Given the description of an element on the screen output the (x, y) to click on. 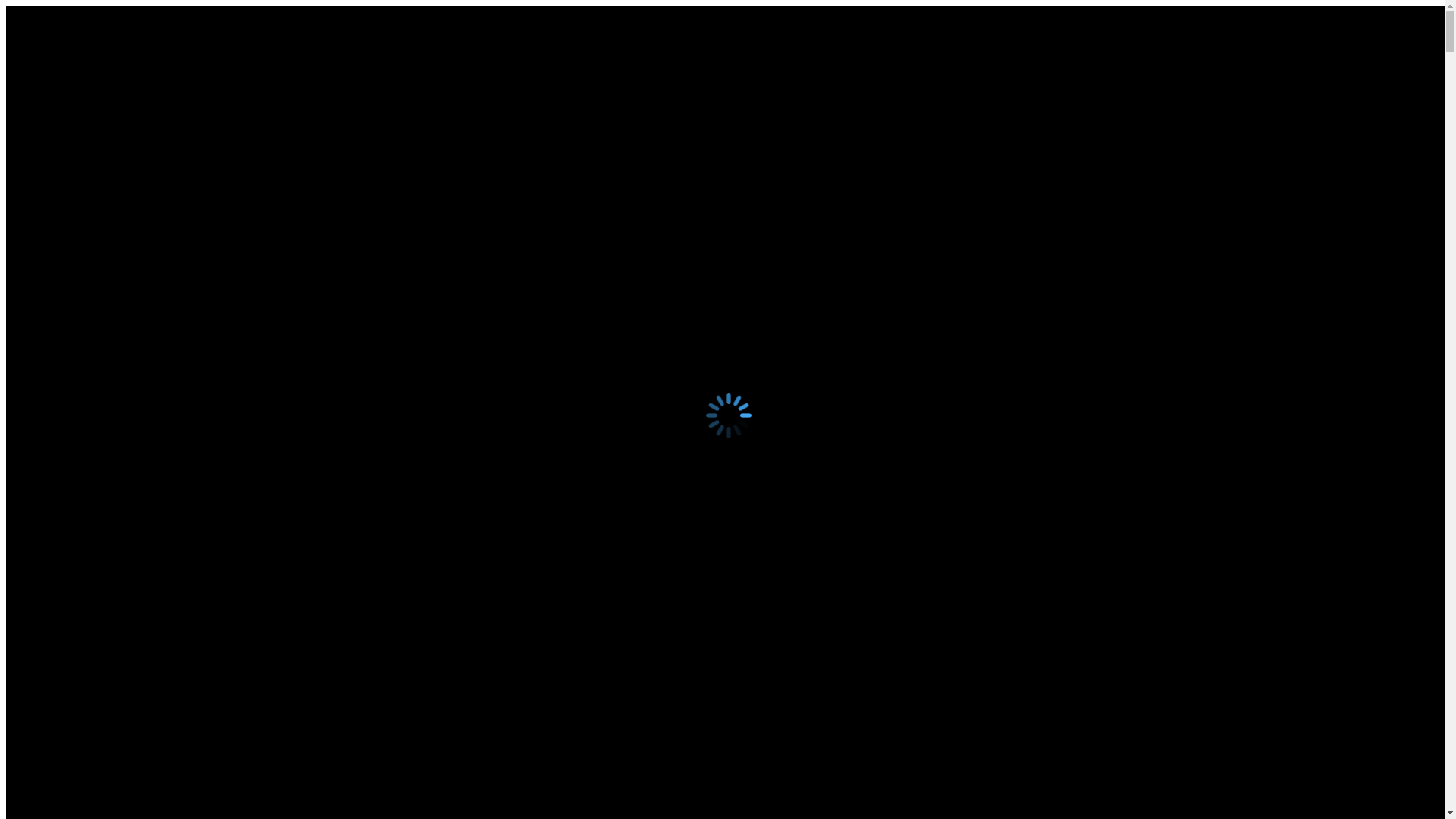
Twitter page opens in new window Element type: text (24, 213)
Terms and Conditions Element type: text (89, 444)
Skip to content Element type: text (5, 5)
About Us Element type: text (59, 104)
Our Work Element type: text (60, 403)
Instagram page opens in new window Element type: text (48, 213)
Vacancies Element type: text (60, 389)
Facebook page opens in new window Element type: text (12, 213)
Contact Element type: text (55, 430)
Blog Element type: text (47, 417)
About Us Element type: text (59, 362)
Blog Element type: text (47, 159)
Terms and Conditions Element type: text (89, 186)
Contact Element type: text (55, 172)
Services Element type: text (56, 118)
Our Work Element type: text (60, 145)
Home Element type: text (50, 90)
Home Element type: text (50, 348)
Services Element type: text (56, 376)
Linkedin page opens in new window Element type: text (36, 213)
Home Element type: text (50, 544)
Vacancies Element type: text (60, 131)
Get a Free Quote Element type: text (53, 322)
